Given the description of an element on the screen output the (x, y) to click on. 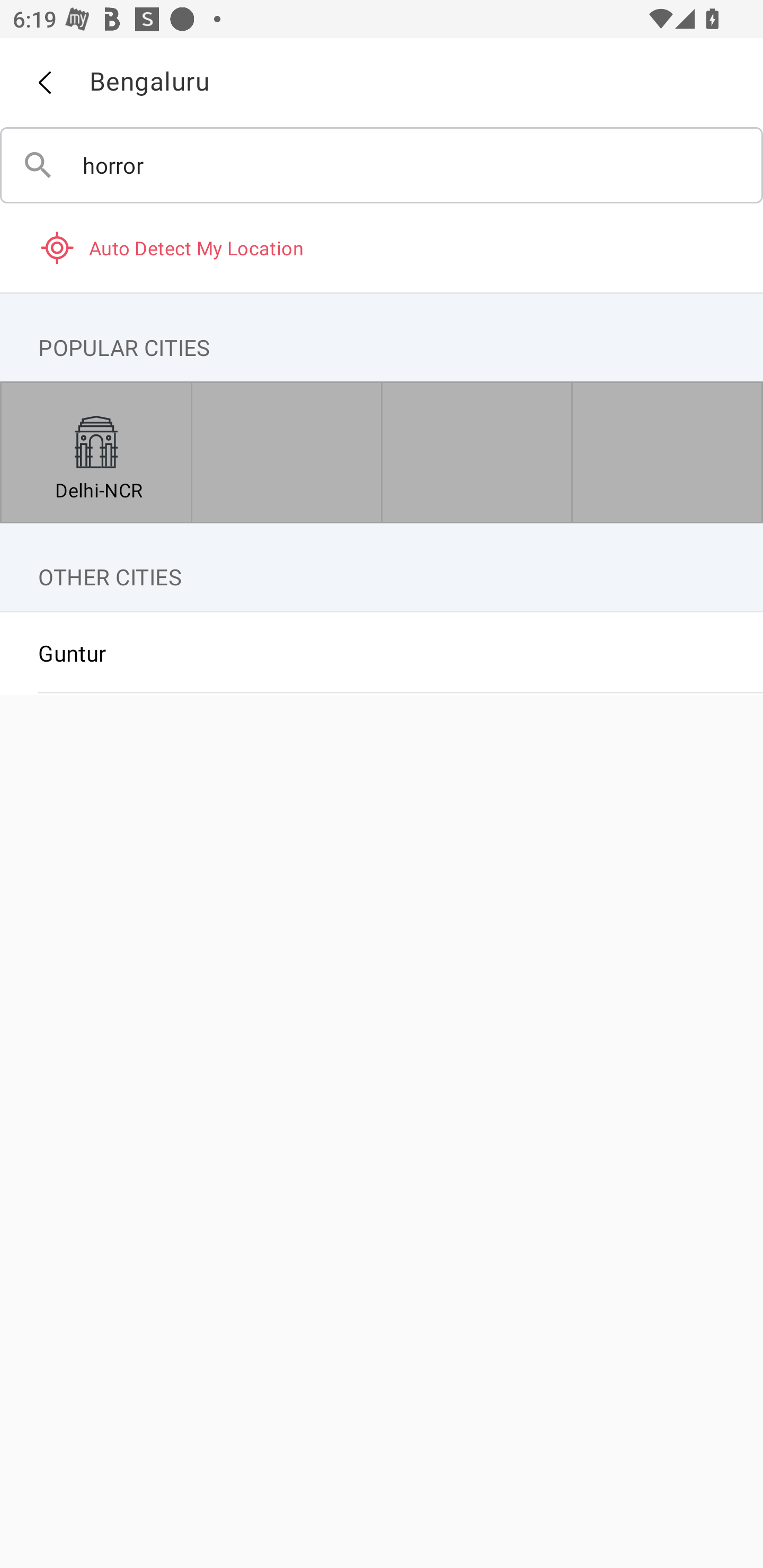
Back (44, 82)
horror (381, 165)
Auto Detect My Location (381, 247)
Delhi-NCR (95, 452)
Guntur (381, 653)
